Given the description of an element on the screen output the (x, y) to click on. 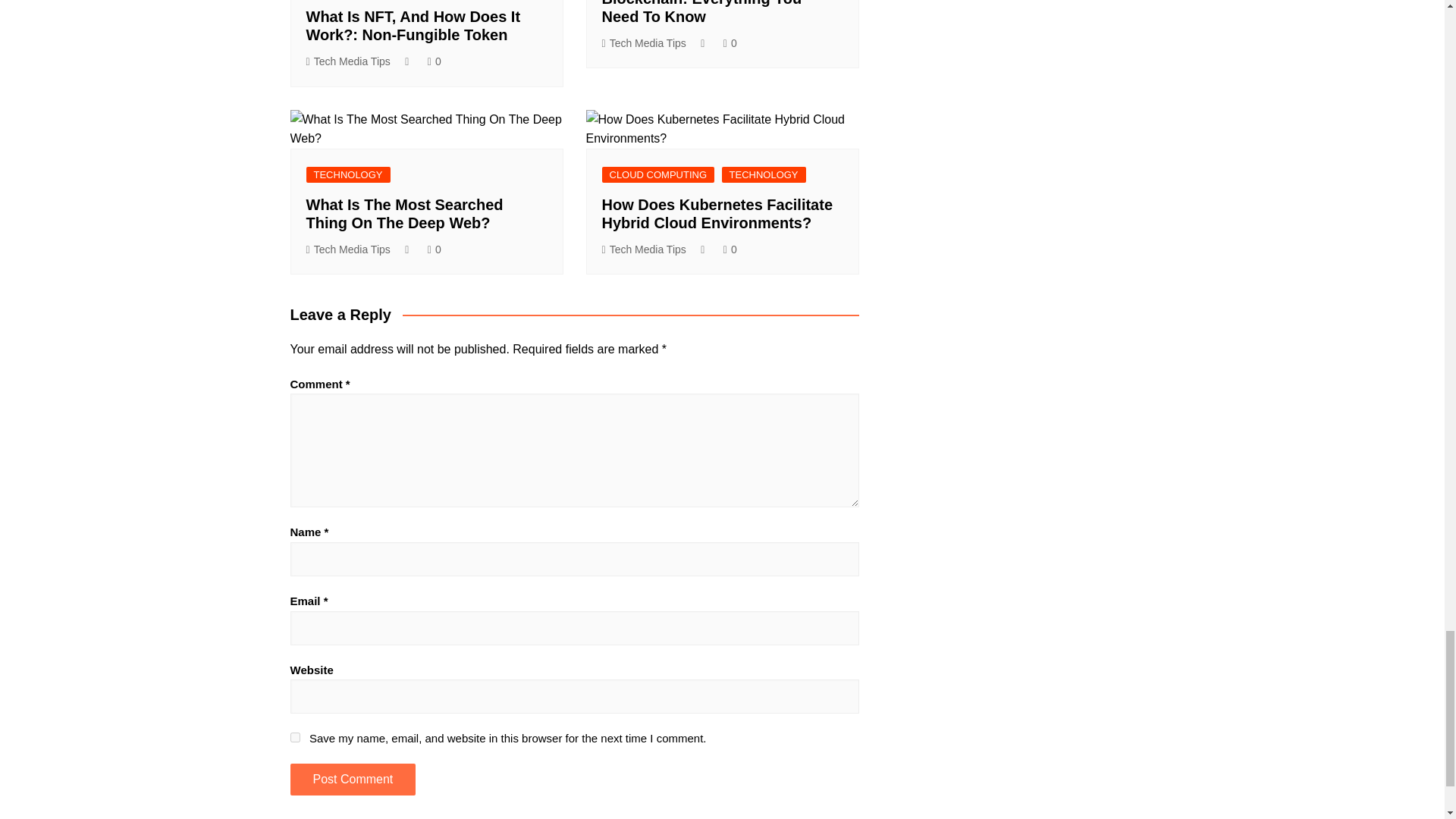
yes (294, 737)
Post Comment (351, 779)
